Given the description of an element on the screen output the (x, y) to click on. 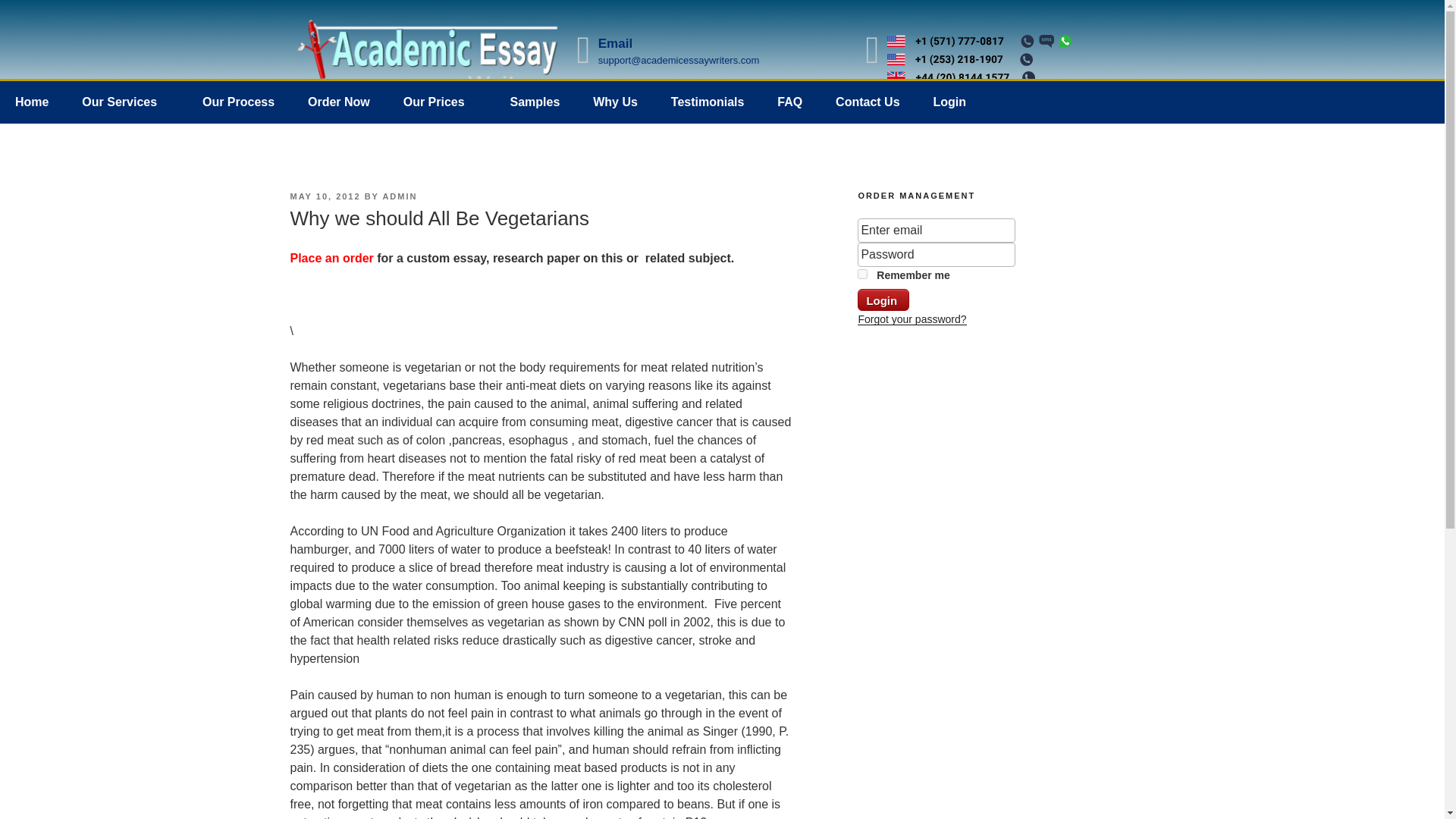
Our Services (125, 102)
Login (882, 300)
Contact Us (867, 102)
Recover password (911, 318)
Home (32, 102)
Samples (535, 102)
Our Process (238, 102)
Forgot your password? (911, 318)
click to Login (882, 300)
Login (949, 102)
Order Now (338, 102)
on (862, 274)
FAQ (788, 102)
Our Prices (440, 102)
Testimonials (708, 102)
